Given the description of an element on the screen output the (x, y) to click on. 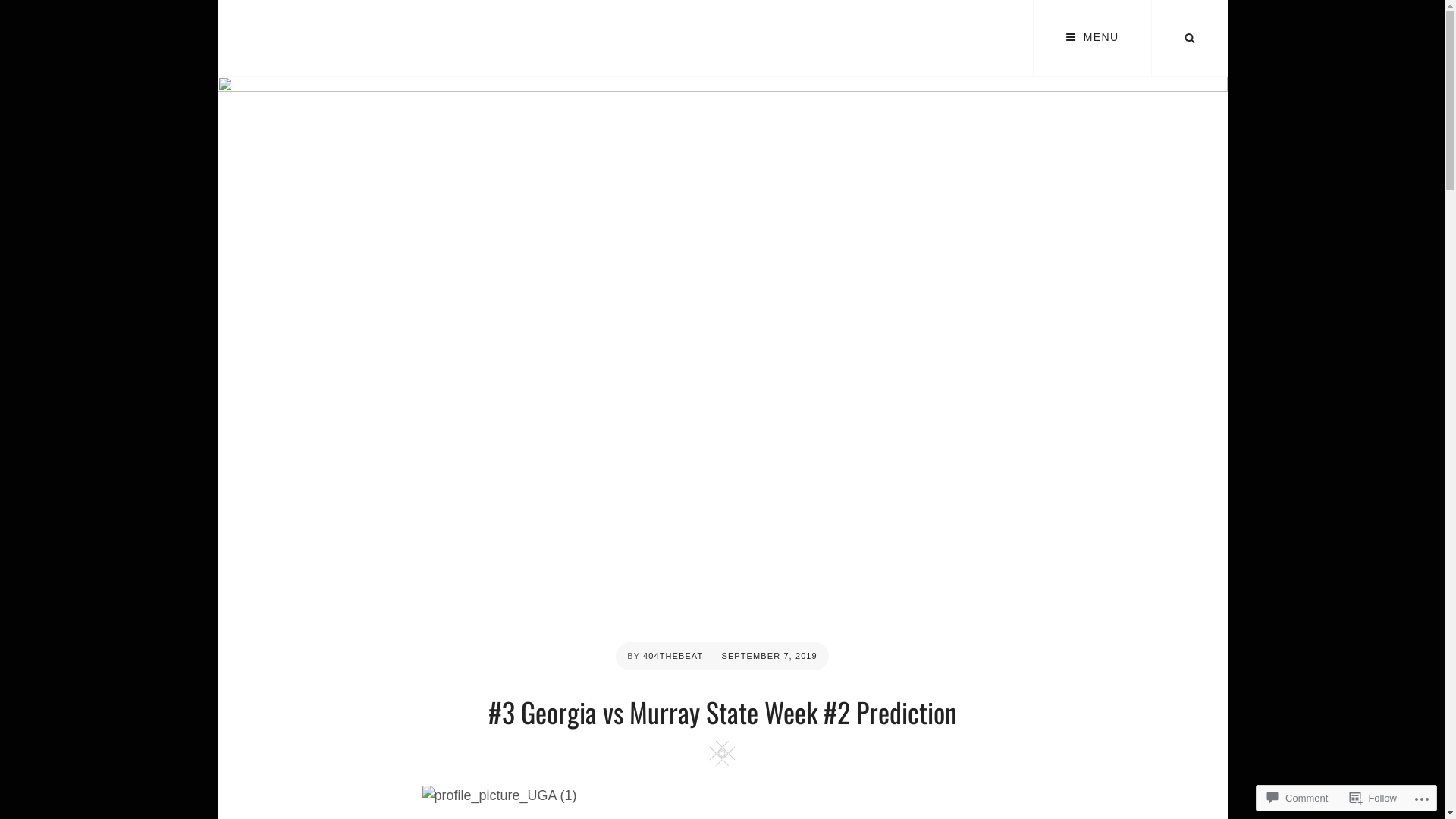
Follow Element type: text (1372, 797)
SEPTEMBER 7, 2019 Element type: text (768, 655)
Comment Element type: text (1297, 797)
404THEBEAT Element type: text (672, 655)
MENU Element type: text (1091, 37)
